Given the description of an element on the screen output the (x, y) to click on. 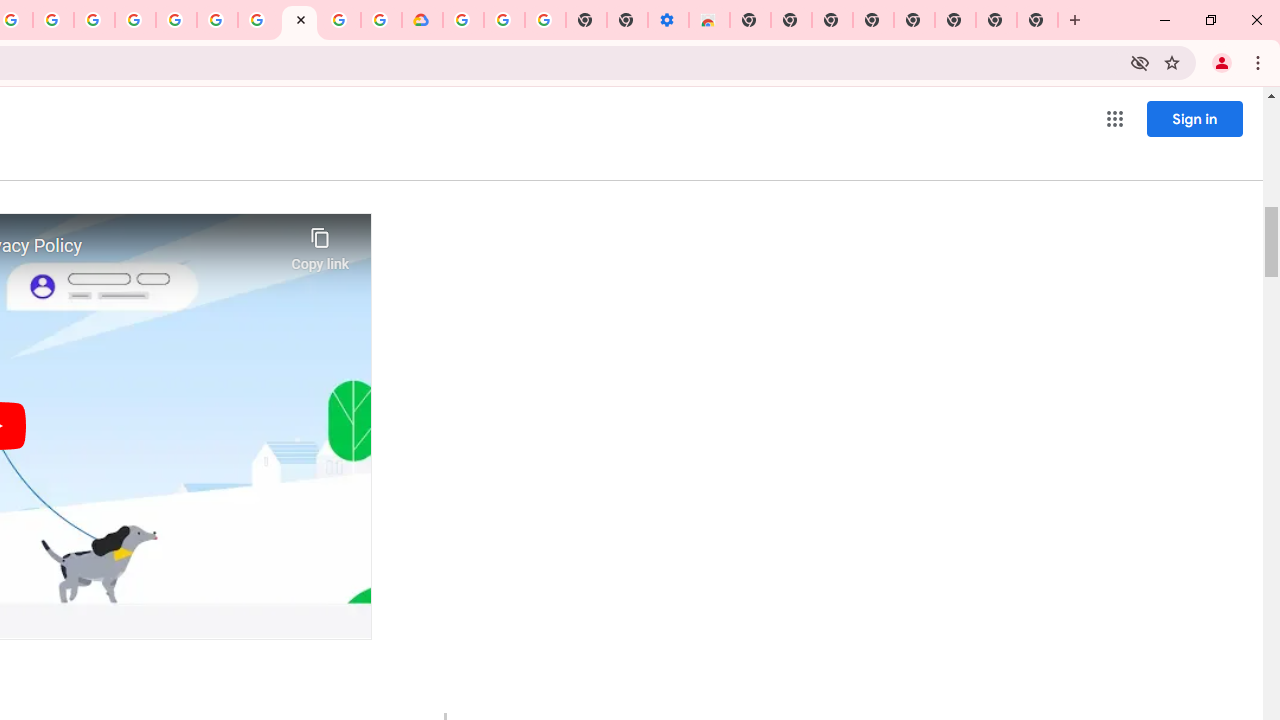
Copy link (319, 244)
Google Account Help (258, 20)
New Tab (1037, 20)
Sign in - Google Accounts (176, 20)
Turn cookies on or off - Computer - Google Account Help (544, 20)
Create your Google Account (340, 20)
Chrome Web Store - Accessibility extensions (708, 20)
